Given the description of an element on the screen output the (x, y) to click on. 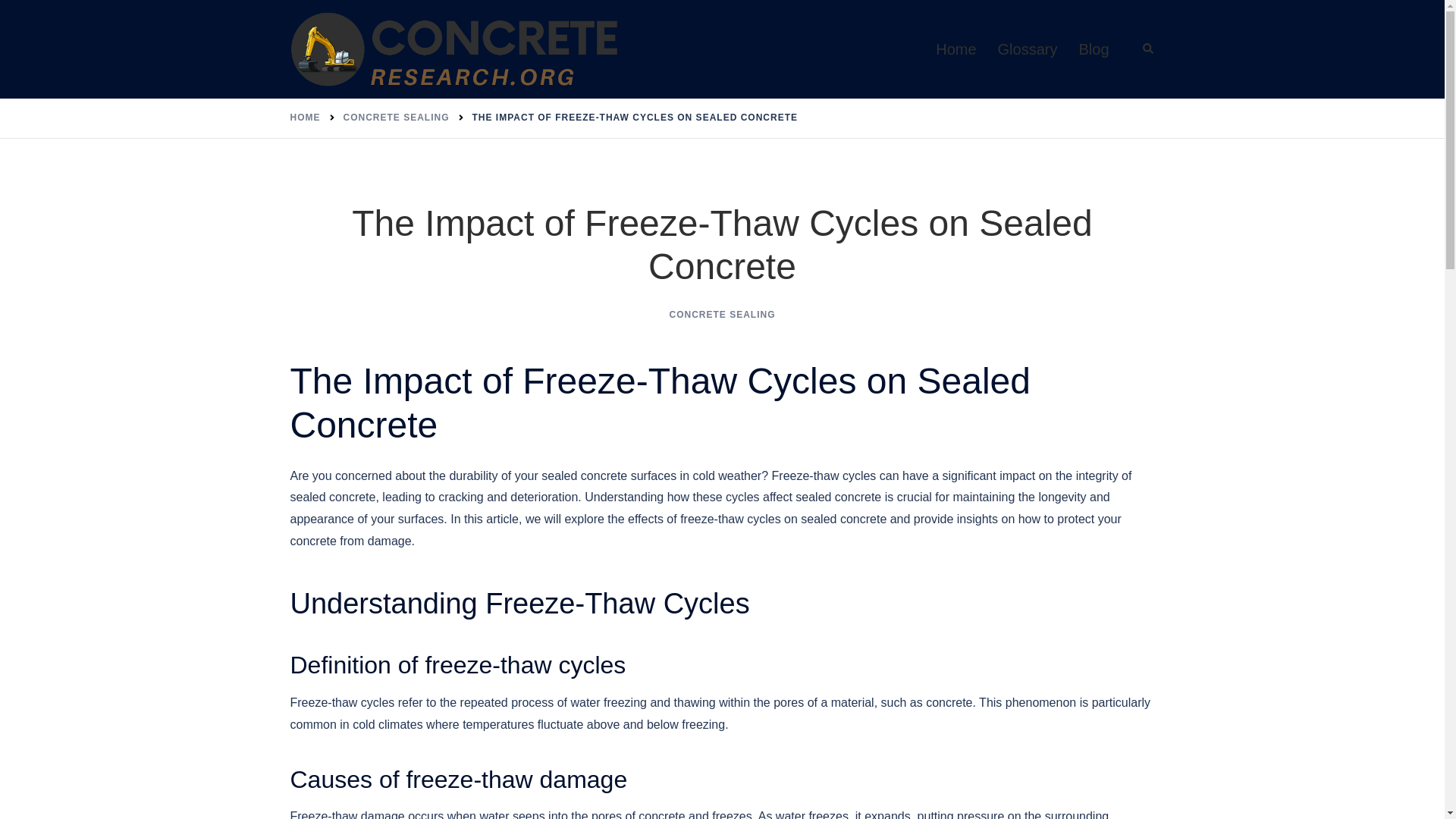
Search (1147, 49)
Glossary (1027, 49)
Blog (1093, 49)
Home (955, 49)
CONCRETE SEALING (395, 117)
ConcreteResearch.org (454, 47)
HOME (304, 117)
CONCRETE SEALING (721, 314)
